Given the description of an element on the screen output the (x, y) to click on. 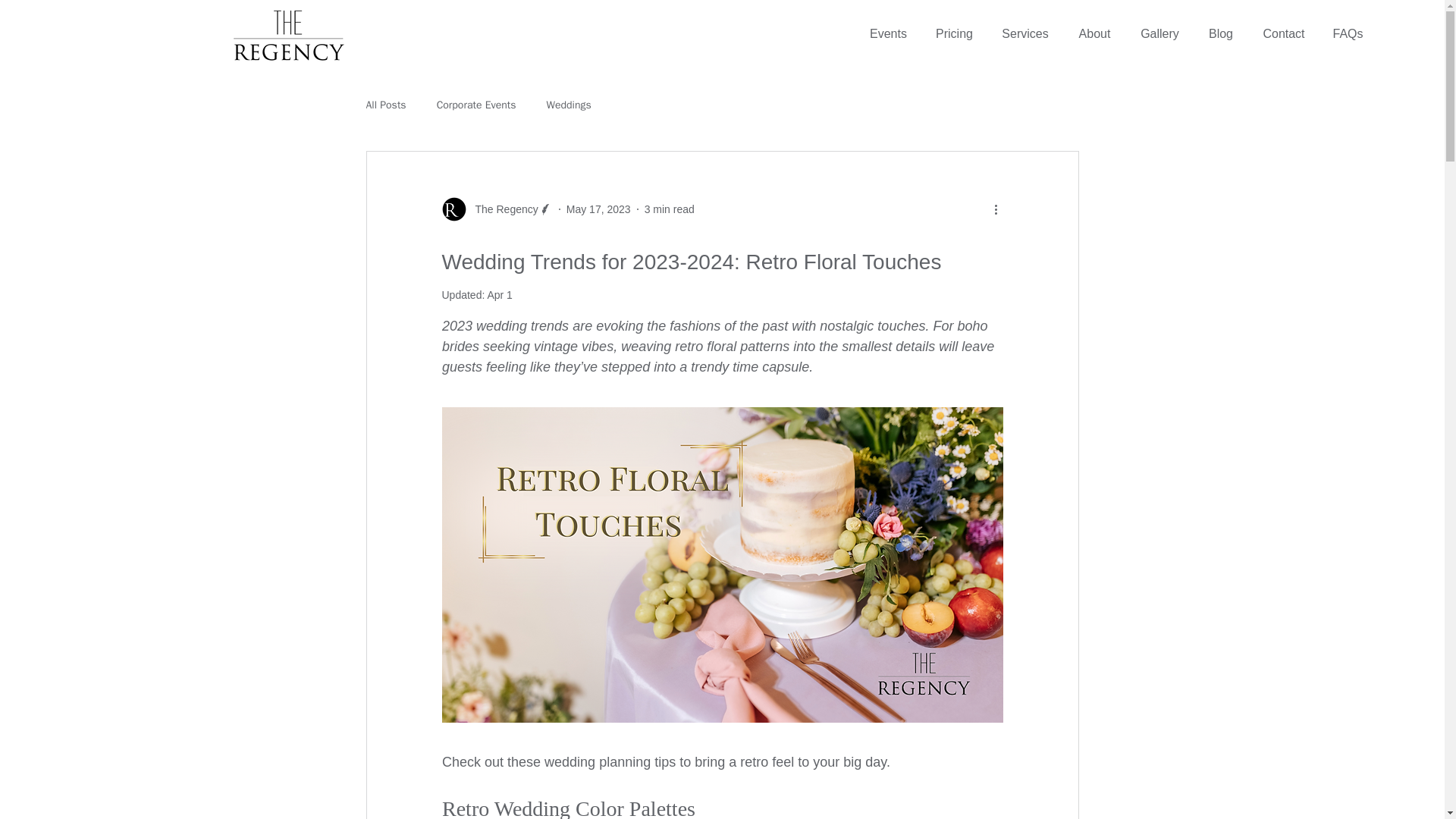
The Regency (496, 209)
3 min read (669, 209)
All Posts (385, 105)
About (1093, 34)
May 17, 2023 (598, 209)
Contact (1283, 34)
Weddings (568, 105)
Blog (1220, 34)
Apr 1 (499, 295)
Pricing (954, 34)
